Given the description of an element on the screen output the (x, y) to click on. 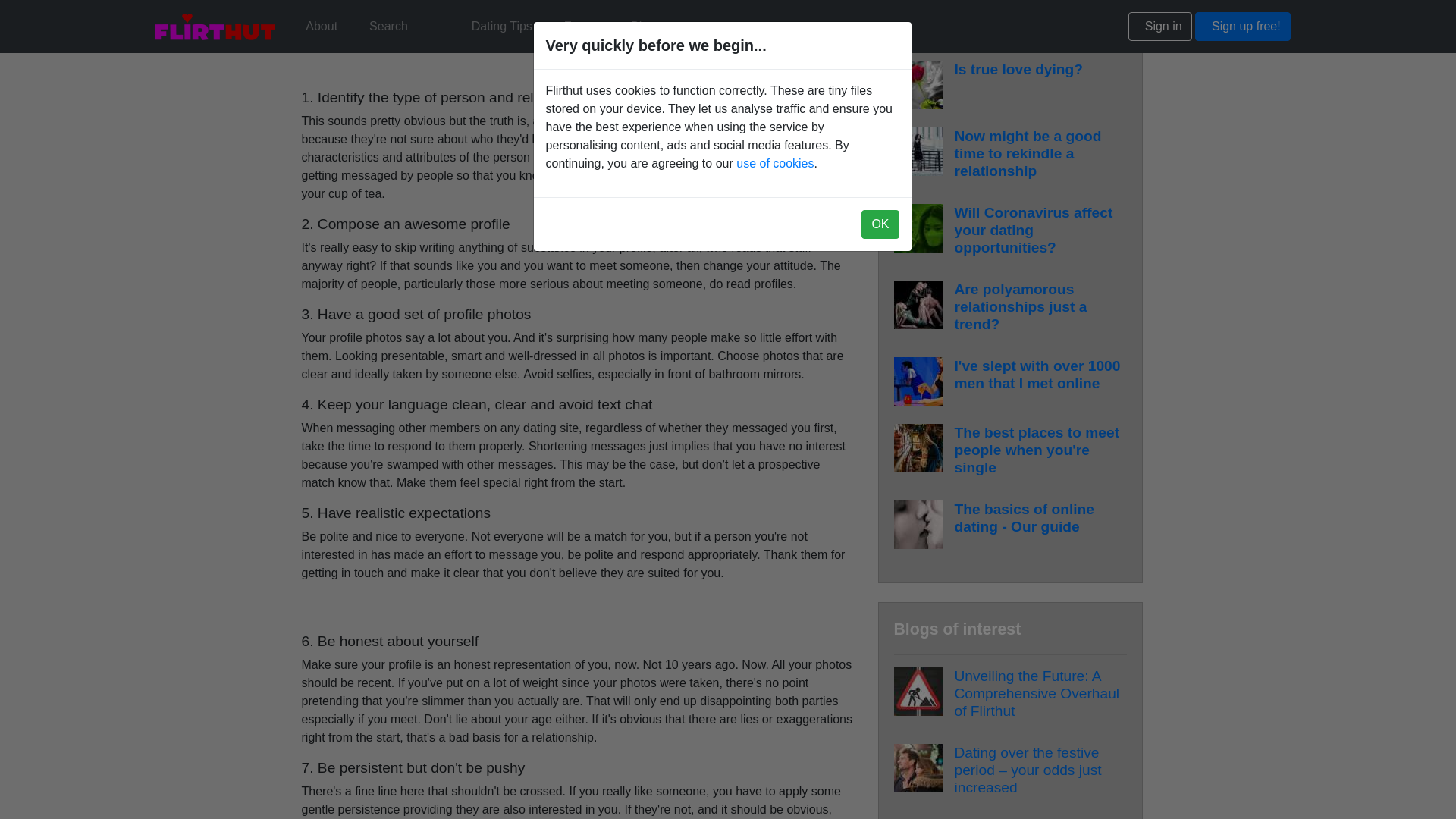
Will 2021 bring better dating opportunities? (1028, 13)
